Given the description of an element on the screen output the (x, y) to click on. 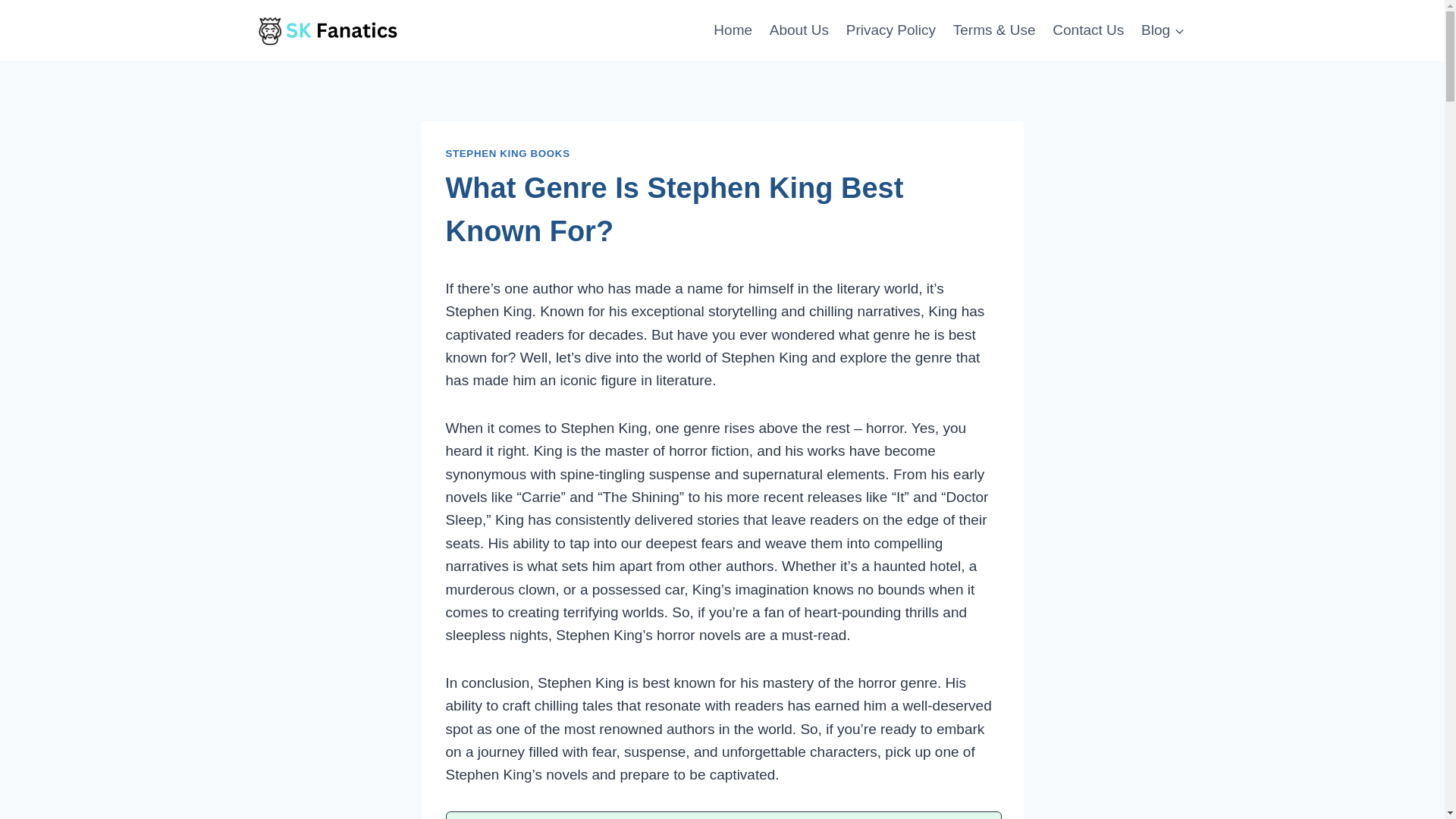
Privacy Policy (890, 29)
About Us (798, 29)
STEPHEN KING BOOKS (507, 153)
Blog (1162, 29)
Contact Us (1087, 29)
Home (732, 29)
